Given the description of an element on the screen output the (x, y) to click on. 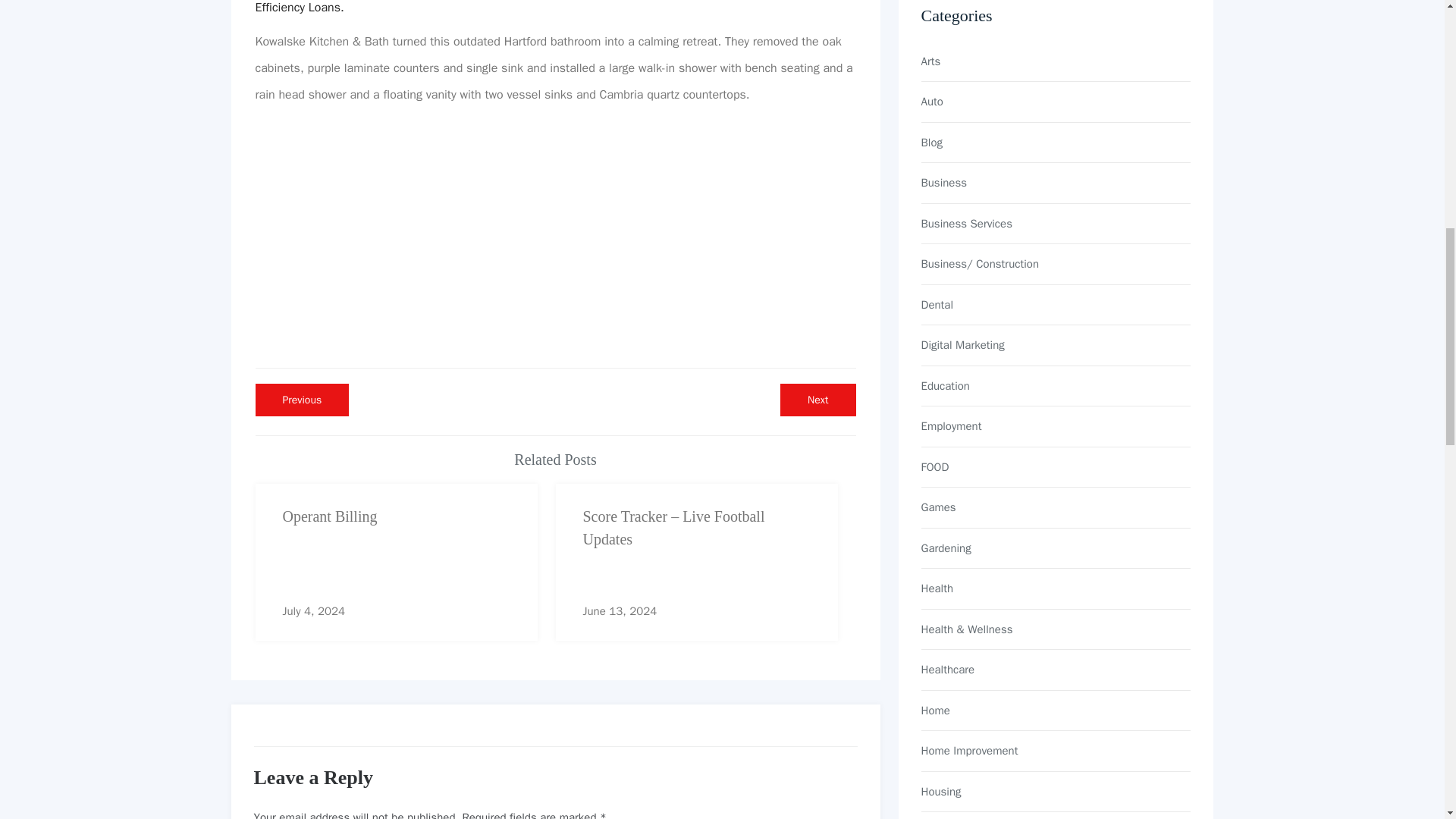
Blog (301, 400)
Arts (1055, 142)
Auto (1055, 61)
Capital for Change Energy Efficiency Loans. (818, 400)
